Given the description of an element on the screen output the (x, y) to click on. 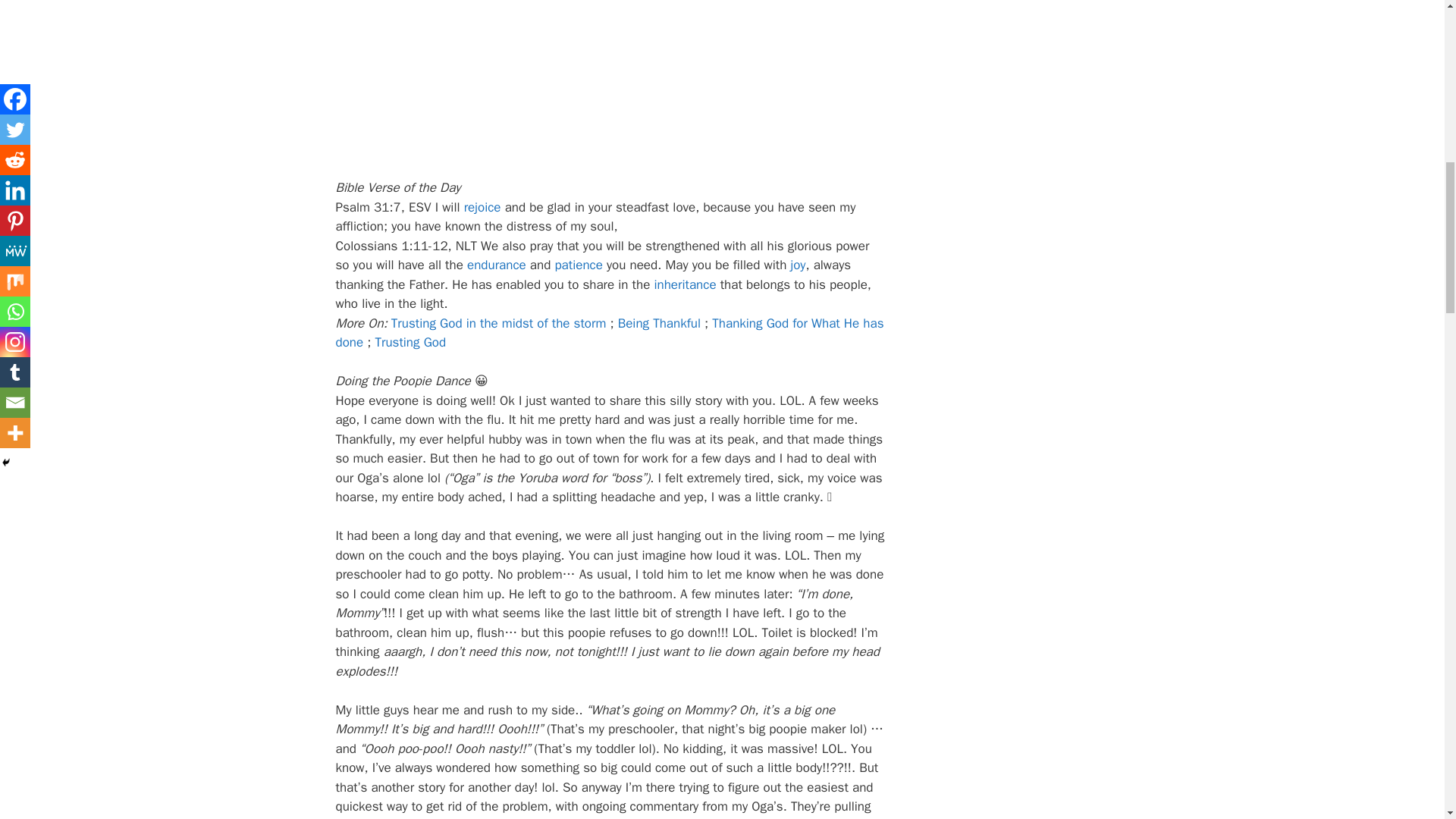
inheritance (684, 284)
Advertisement (609, 62)
Being Thankful (658, 323)
rejoice (482, 207)
Thanking God for What He has done (608, 333)
Trusting God in the midst of the storm (499, 323)
endurance (496, 264)
patience (578, 264)
Trusting God (409, 342)
joy (797, 264)
